Given the description of an element on the screen output the (x, y) to click on. 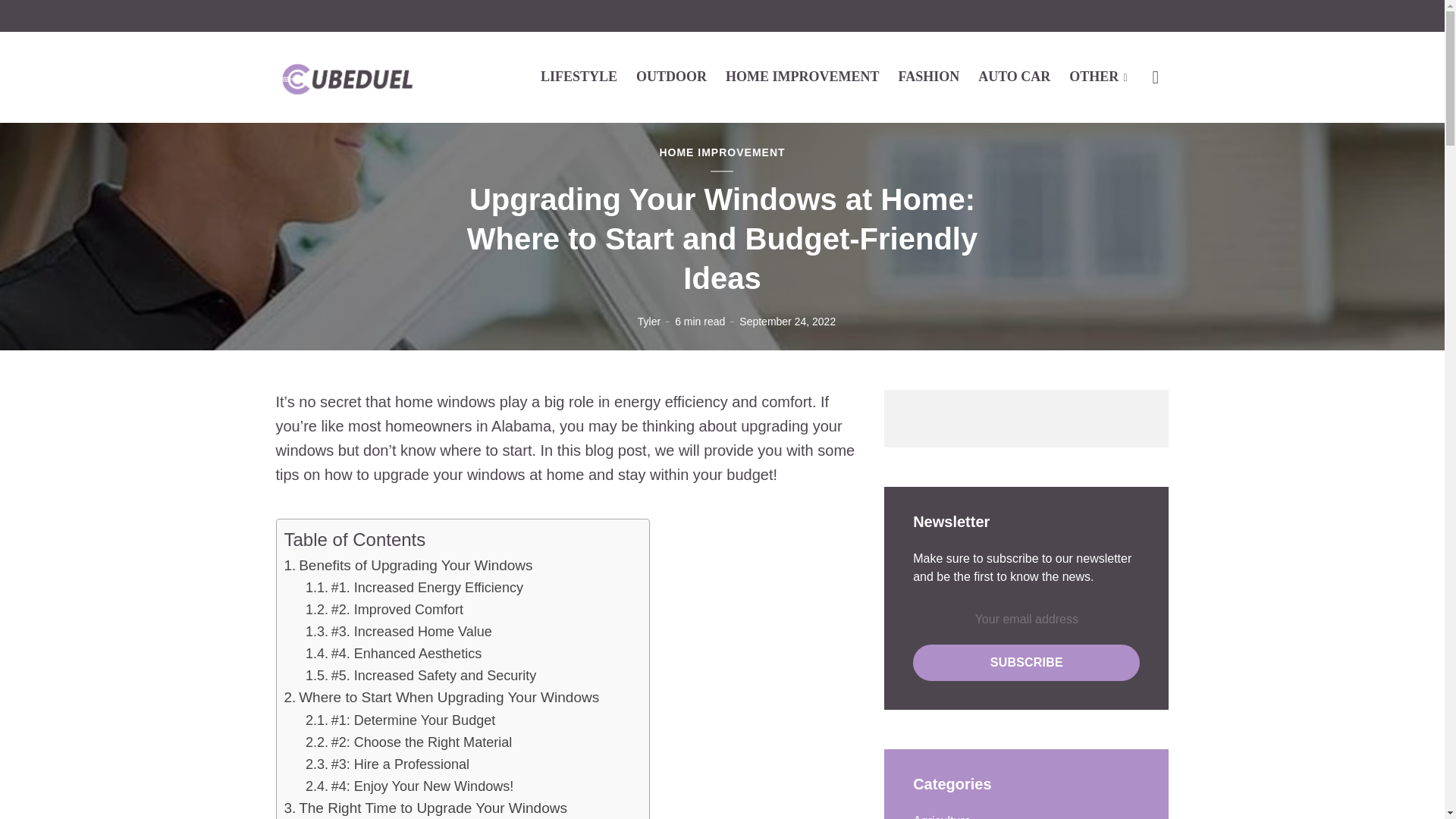
Where to Start When Upgrading Your Windows (448, 697)
HOME IMPROVEMENT (802, 76)
Subscribe (1026, 662)
LIFESTYLE (578, 76)
OUTDOOR (671, 76)
AUTO CAR (1013, 76)
OTHER (1097, 76)
The Right Time to Upgrade Your Windows (432, 808)
Benefits of Upgrading Your Windows (415, 565)
FASHION (928, 76)
